Given the description of an element on the screen output the (x, y) to click on. 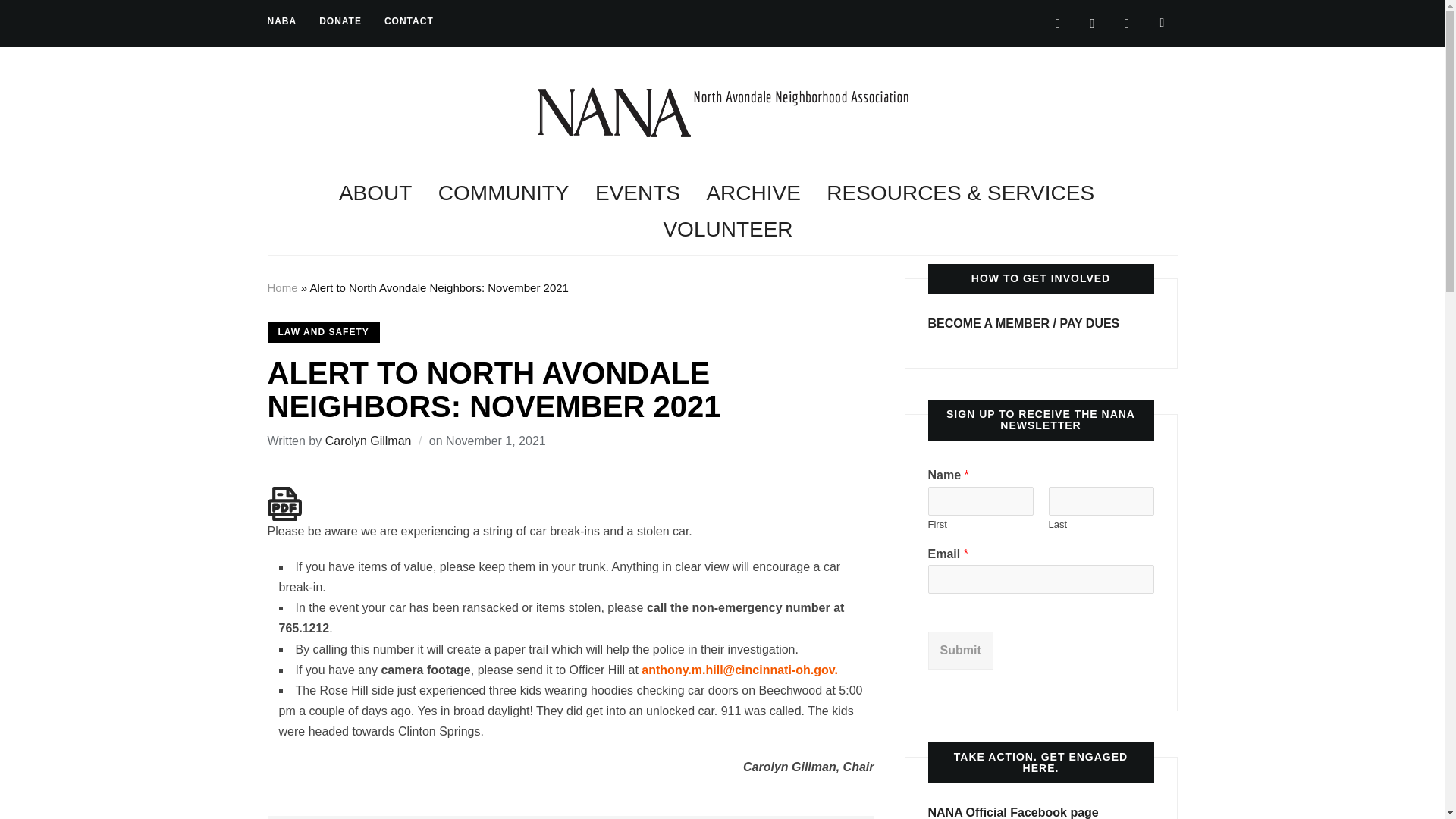
Posts by Carolyn Gillman (368, 442)
TWITTER (1058, 22)
NABA (281, 21)
Facebook (1127, 22)
INSTAGRAM (1092, 22)
FACEBOOK (1127, 22)
Twitter (1058, 22)
Search (1161, 22)
ABOUT (375, 193)
Instagram (1092, 22)
CONTACT (408, 21)
DONATE (339, 21)
Generate PDF (283, 503)
